Given the description of an element on the screen output the (x, y) to click on. 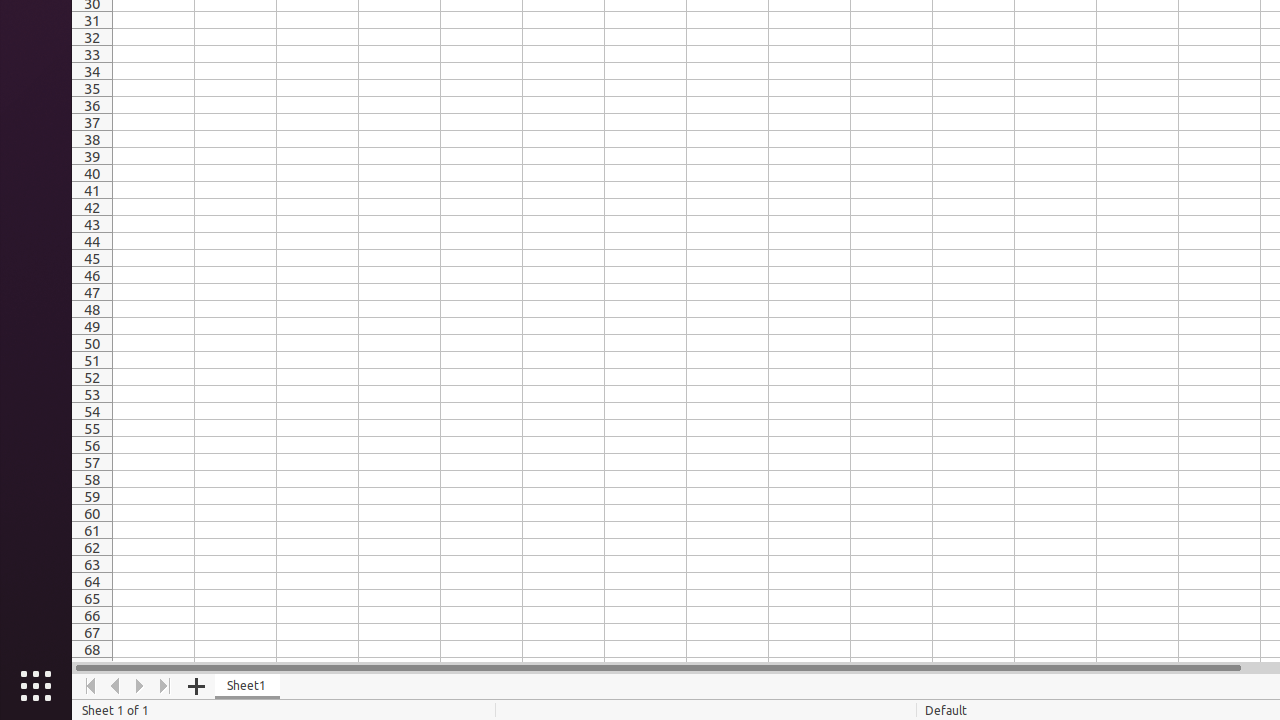
Move Left Element type: push-button (115, 686)
